Given the description of an element on the screen output the (x, y) to click on. 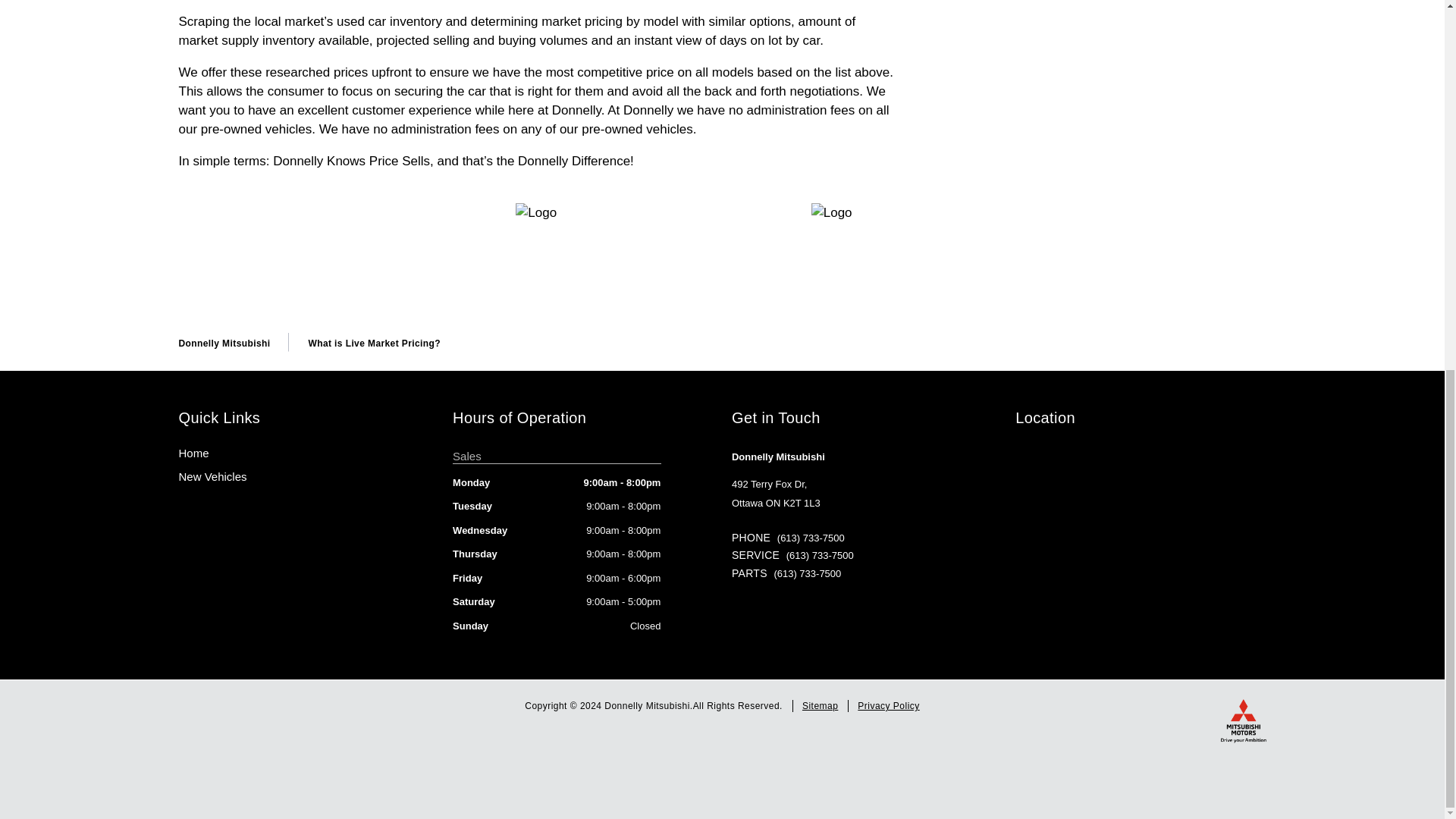
Powered by EDealer (721, 759)
Location Image Map (1139, 522)
Sitemap (820, 705)
Privacy Policy (887, 705)
Go to Donnelly Mitsubishi. (224, 343)
